Given the description of an element on the screen output the (x, y) to click on. 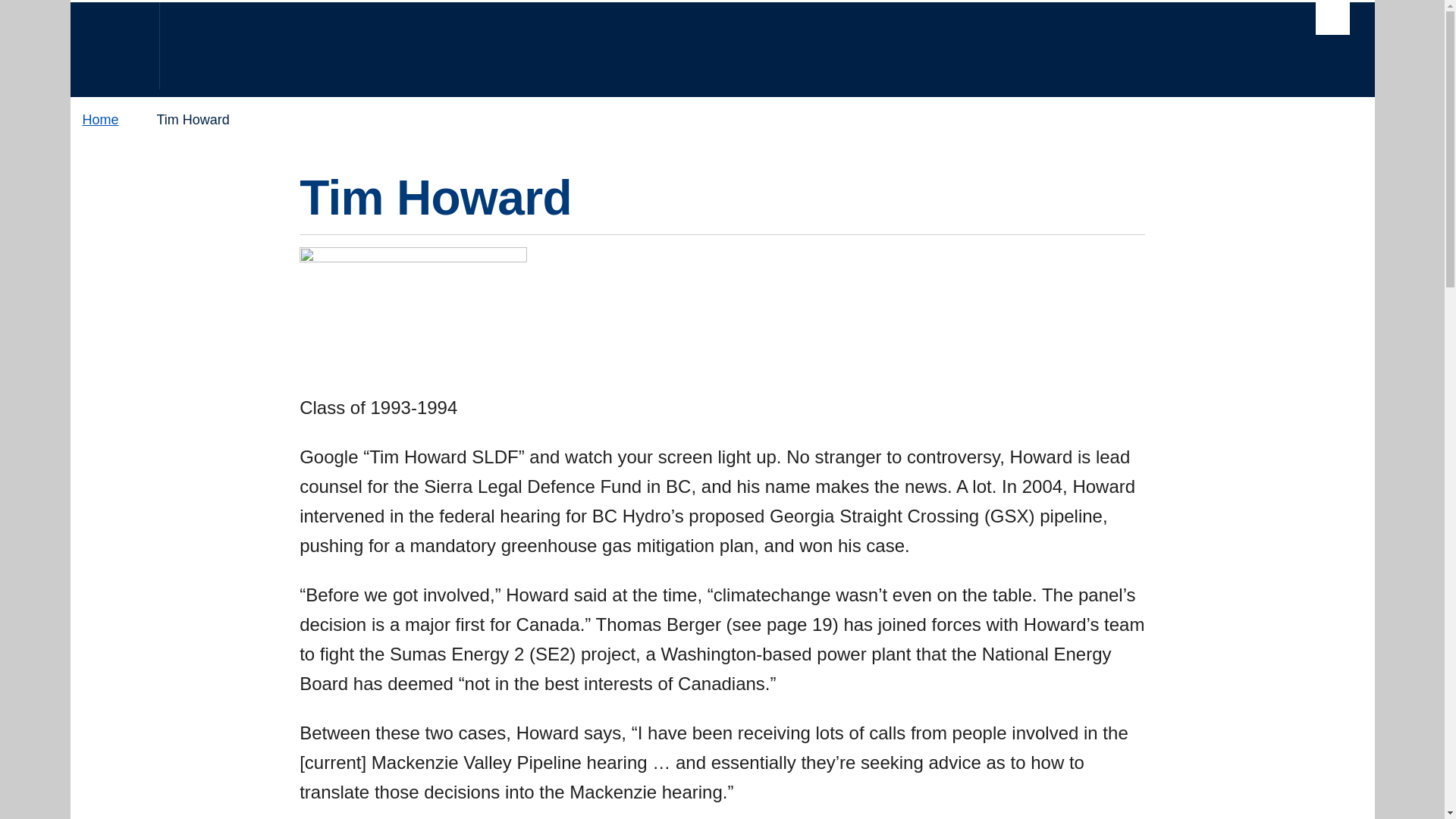
Home (113, 119)
The University of British Columbia (114, 45)
UBC Search (1331, 21)
The University of British Columbia (517, 49)
